Given the description of an element on the screen output the (x, y) to click on. 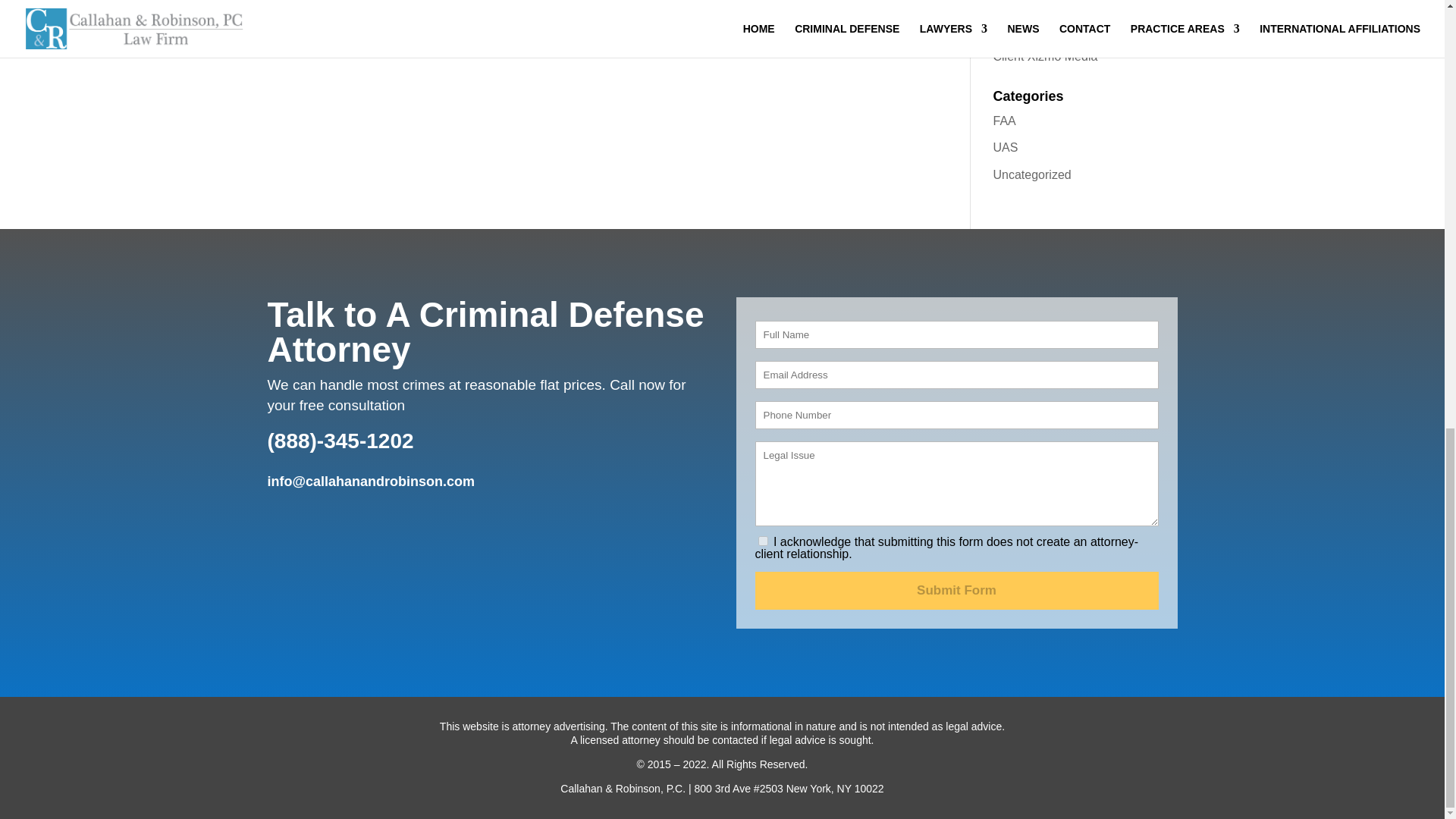
Uncategorized (1031, 174)
FAA (1004, 120)
UAS (1004, 146)
 Submit Form  (956, 590)
 Submit Form  (956, 590)
